Given the description of an element on the screen output the (x, y) to click on. 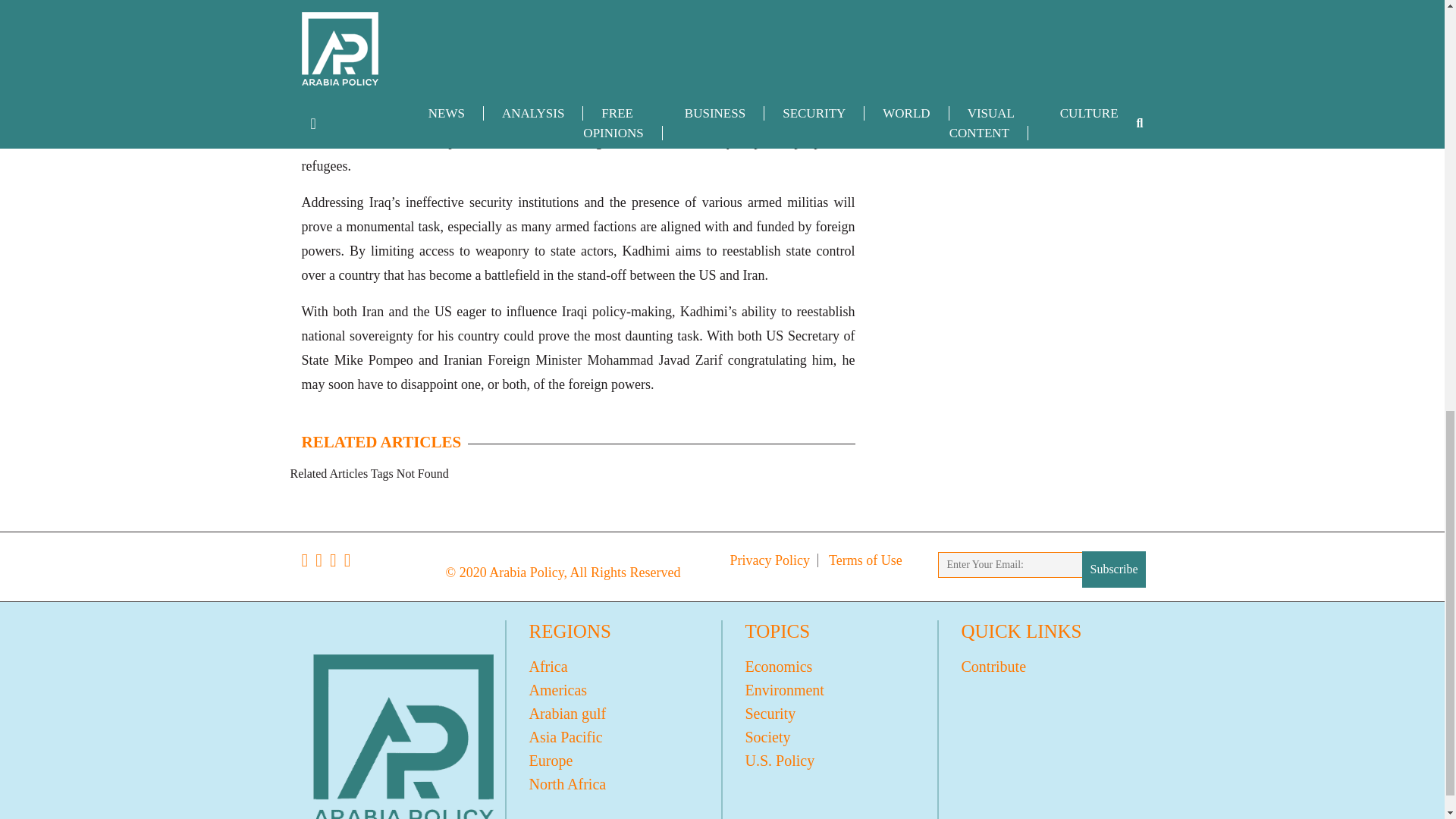
Subscribe (1112, 569)
Subscribe (1112, 569)
Privacy Policy (770, 560)
Terms of Use (865, 560)
Africa (612, 666)
Europe (612, 761)
Security (829, 713)
Society (829, 737)
U.S. Policy (829, 761)
Americas (612, 689)
